Given the description of an element on the screen output the (x, y) to click on. 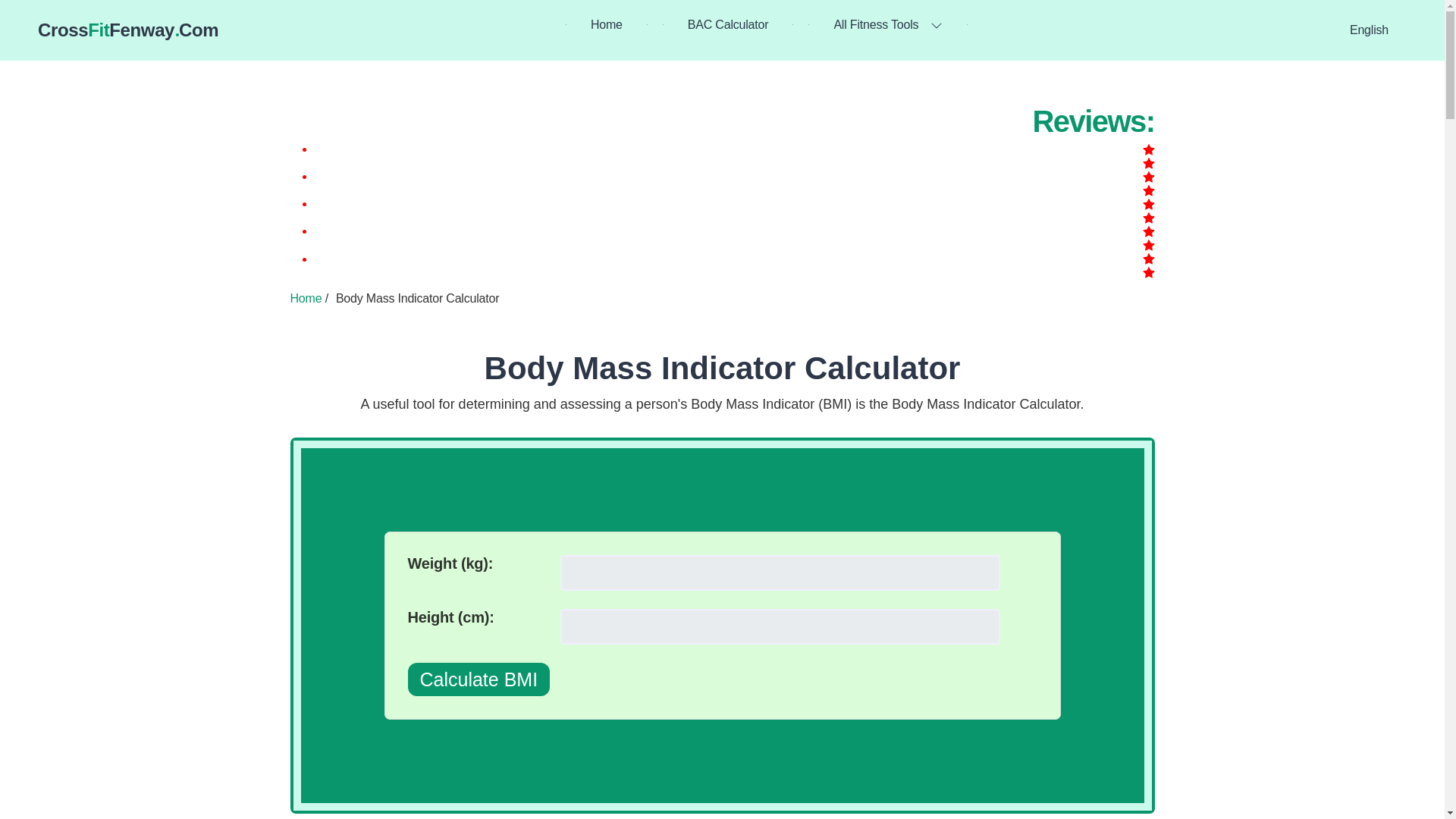
Home (305, 297)
BAC Calculator (727, 24)
Calculate BMI (478, 679)
Body Mass Indicator Calculator (722, 367)
Home (127, 30)
